Given the description of an element on the screen output the (x, y) to click on. 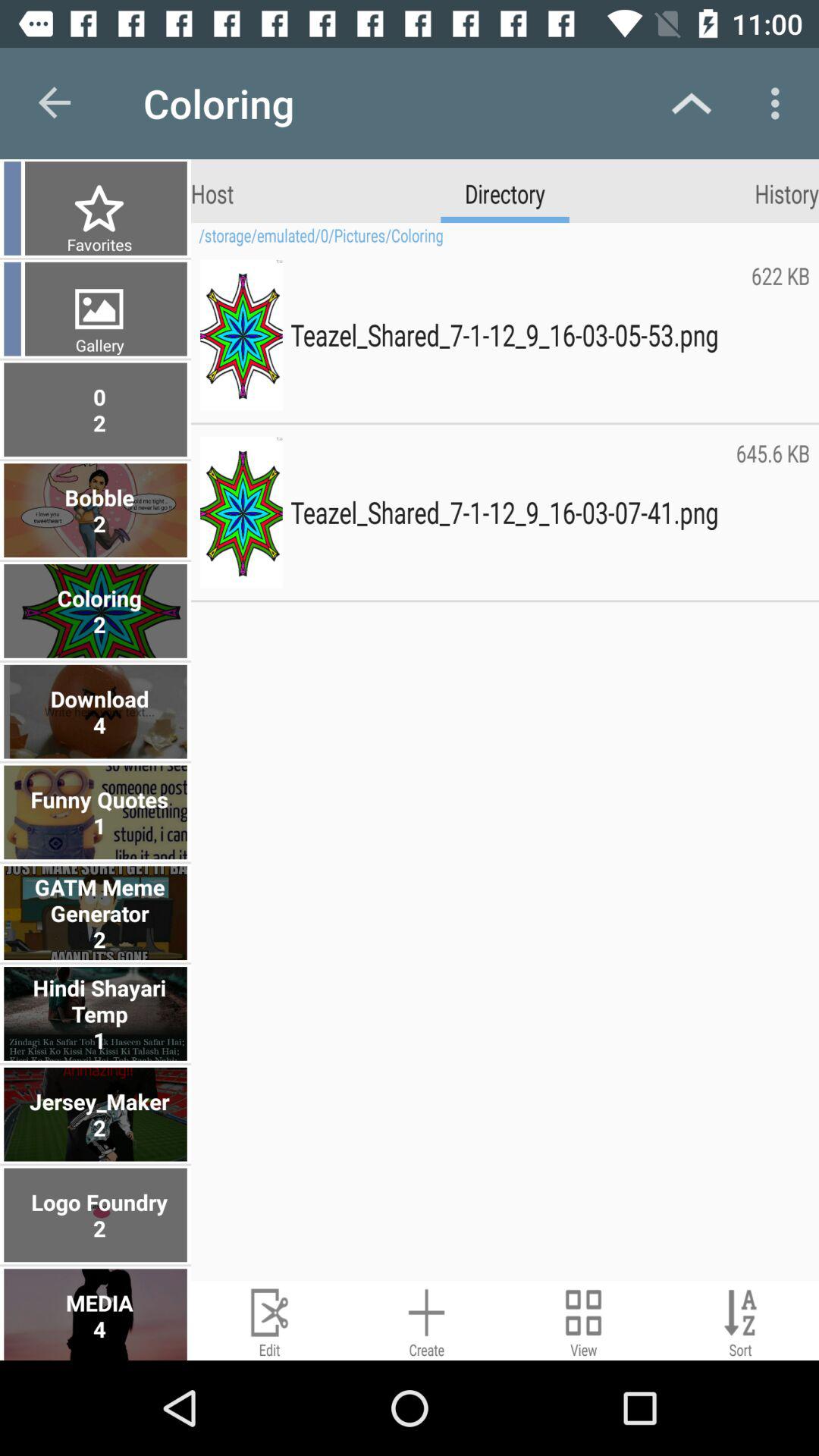
launch funny quotes
1 icon (97, 812)
